Given the description of an element on the screen output the (x, y) to click on. 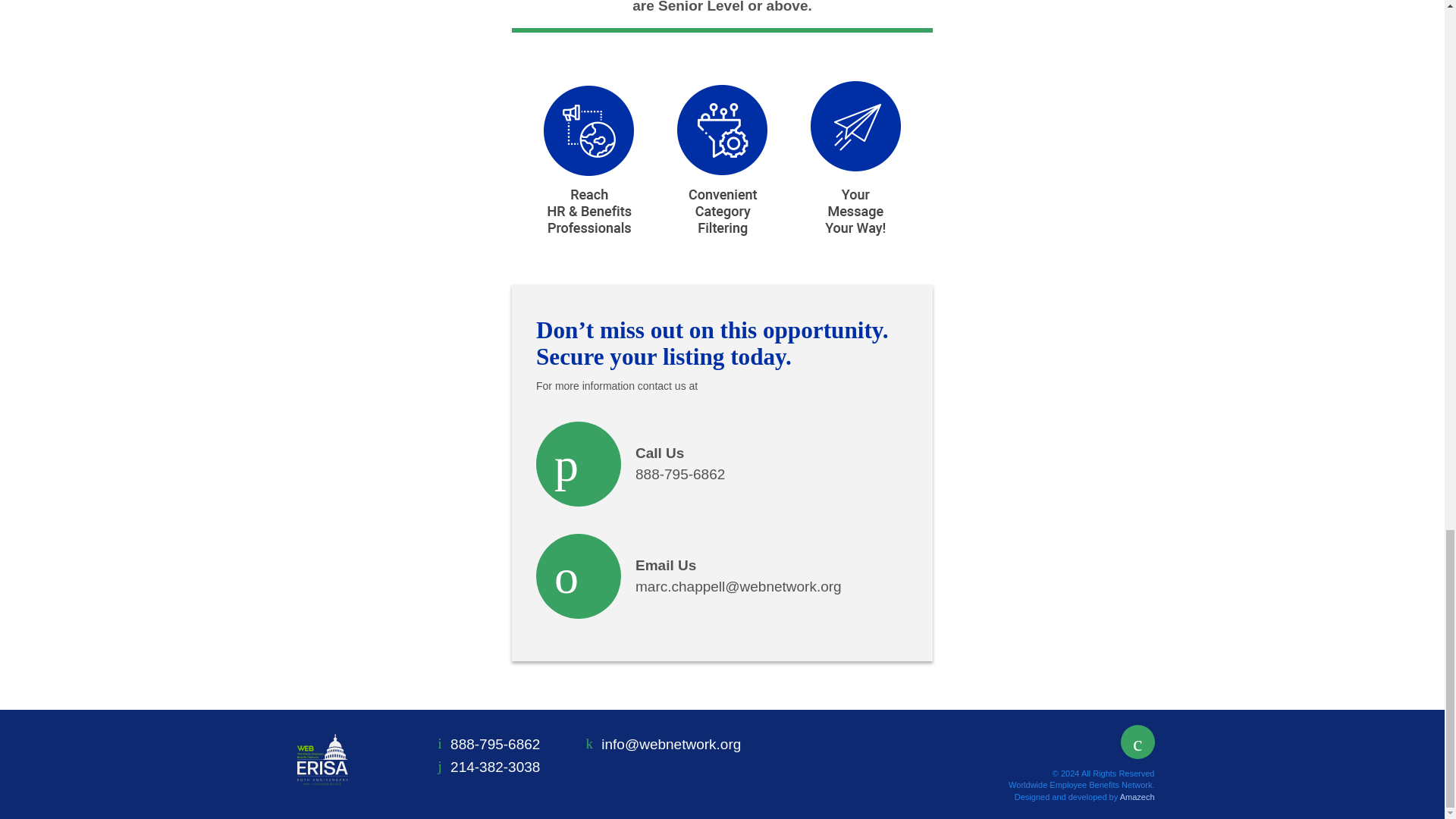
888-795-6862 (500, 744)
Linkedin (721, 463)
214-382-3038 (1137, 741)
Amazech (500, 767)
